Given the description of an element on the screen output the (x, y) to click on. 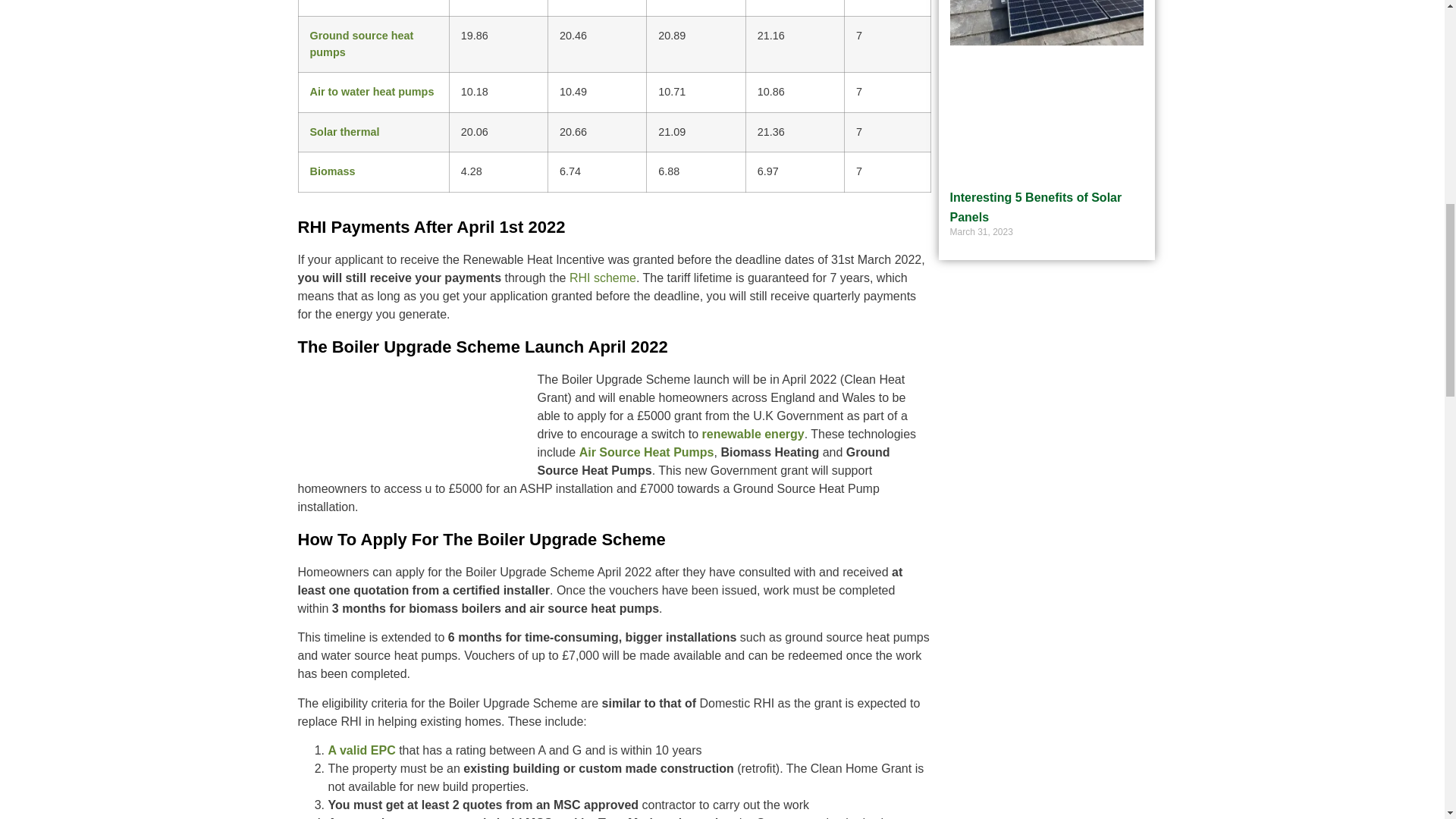
Air to water heat pumps (370, 91)
RHI scheme (602, 277)
Ground source heat pumps (360, 43)
Solar thermal (343, 132)
Biomass (331, 171)
renewable energy (753, 433)
